Given the description of an element on the screen output the (x, y) to click on. 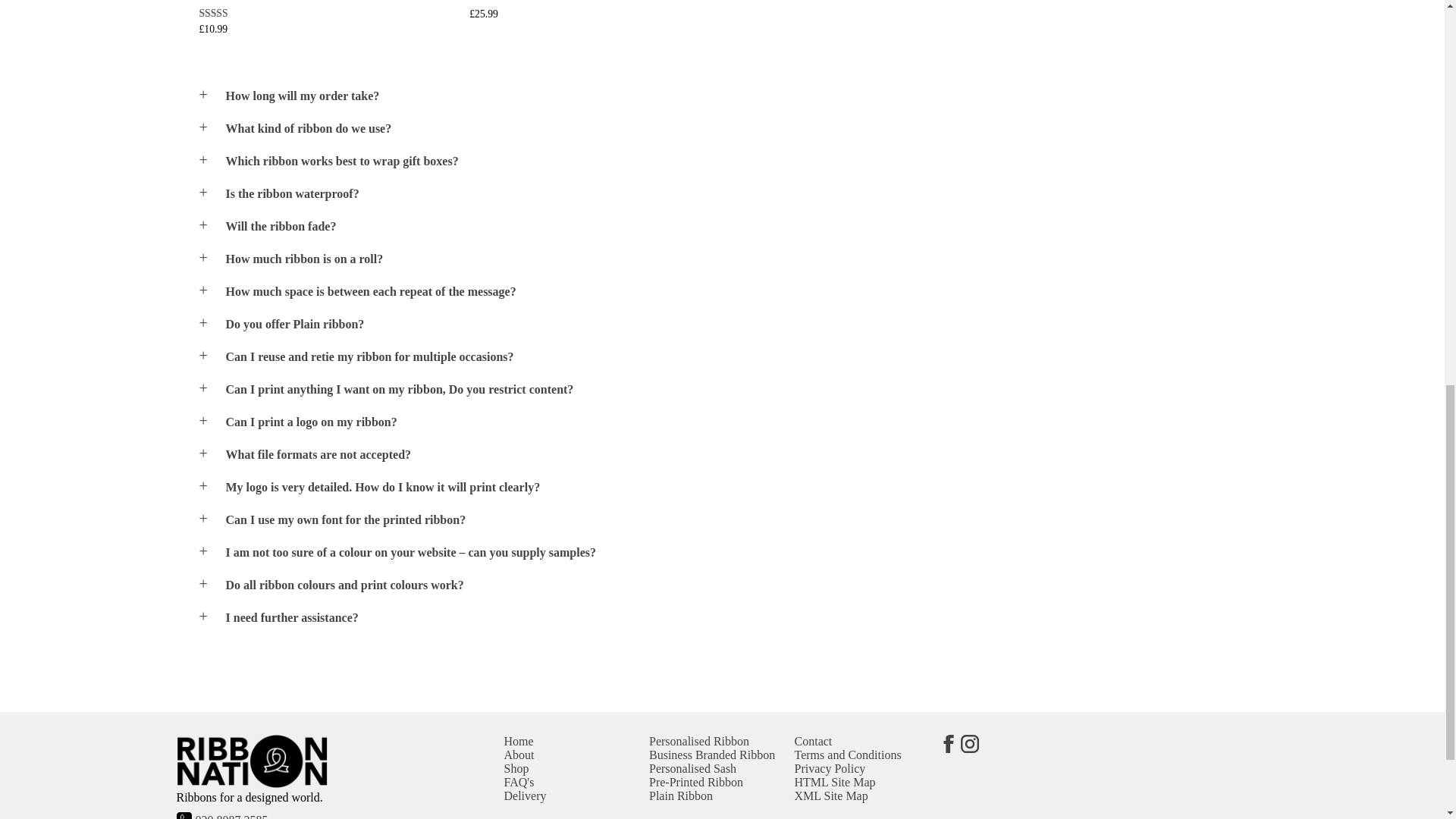
How long will my order take? (735, 96)
Which ribbon works best to wrap gift boxes? (735, 161)
Will the ribbon fade? (735, 226)
What kind of ribbon do we use? (735, 128)
How much ribbon is on a roll? (735, 259)
Is the ribbon waterproof? (735, 193)
